Given the description of an element on the screen output the (x, y) to click on. 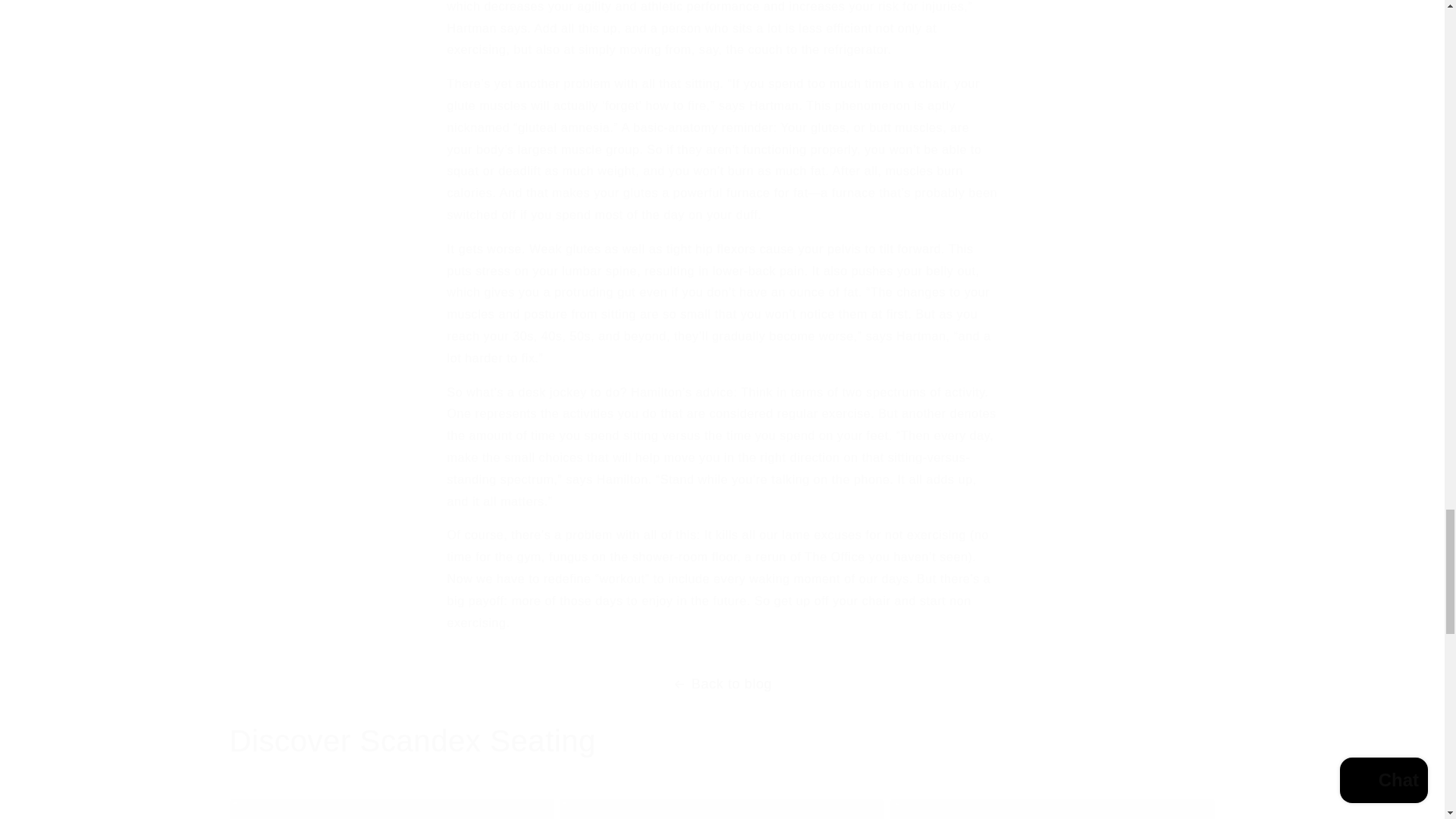
Discover Scandex Seating (411, 740)
Elsa (1051, 808)
Bruno Series (721, 808)
